Given the description of an element on the screen output the (x, y) to click on. 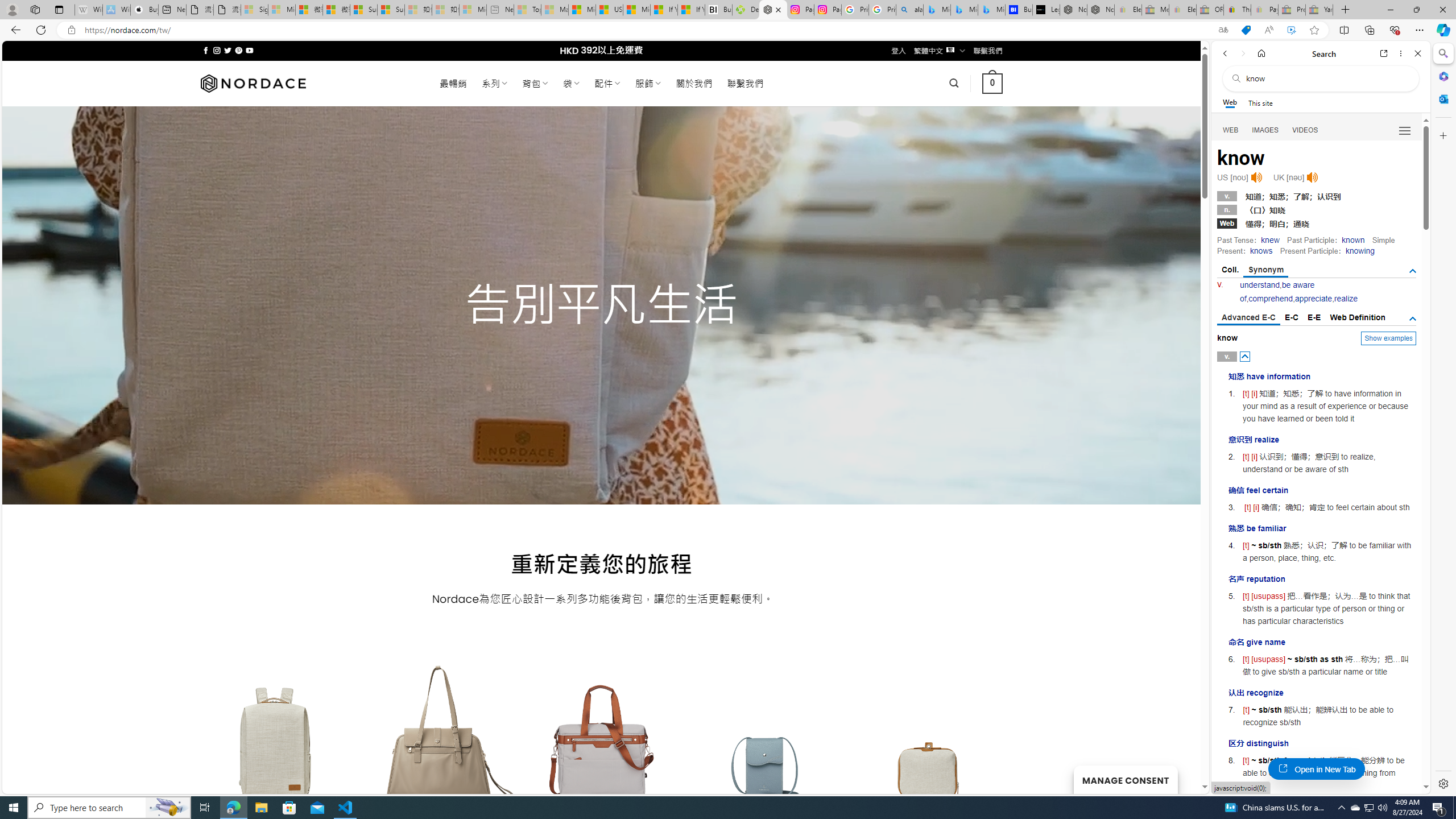
be aware of (1277, 291)
Payments Terms of Use | eBay.com - Sleeping (1264, 9)
Press Room - eBay Inc. - Sleeping (1292, 9)
